Given the description of an element on the screen output the (x, y) to click on. 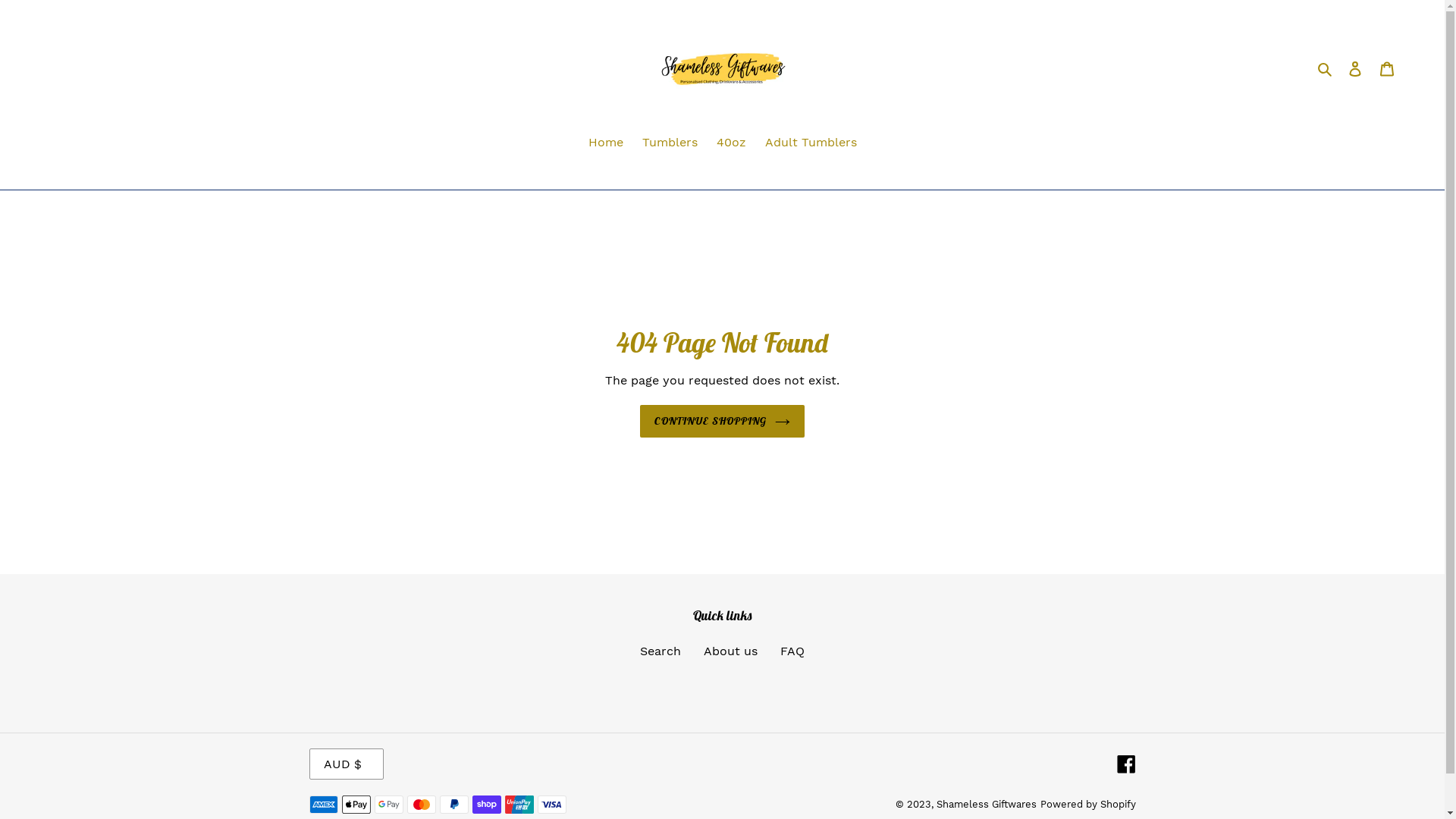
Shameless Giftwares Element type: text (985, 803)
AUD $ Element type: text (346, 763)
Adult Tumblers Element type: text (809, 143)
Search Element type: text (660, 650)
Tumblers Element type: text (668, 143)
FAQ Element type: text (792, 650)
Powered by Shopify Element type: text (1087, 803)
CONTINUE SHOPPING Element type: text (721, 420)
Search Element type: text (1325, 68)
Facebook Element type: text (1125, 764)
About us Element type: text (730, 650)
40oz Element type: text (730, 143)
Home Element type: text (605, 143)
Log in Element type: text (1355, 67)
Cart Element type: text (1386, 67)
